Given the description of an element on the screen output the (x, y) to click on. 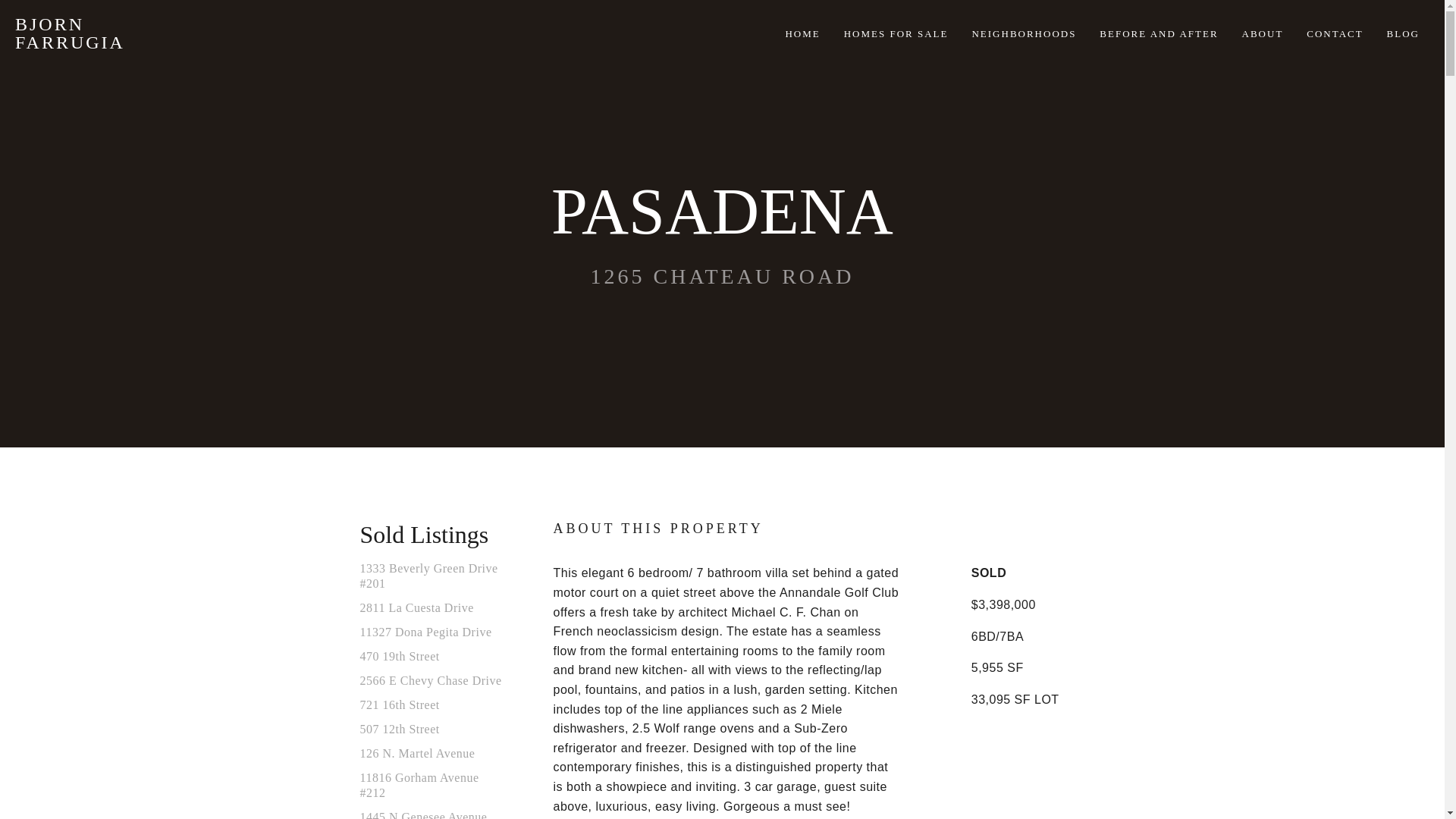
BEFORE AND AFTER (1158, 33)
CONTACT (1335, 33)
BLOG (1403, 33)
ABOUT (1262, 33)
